Given the description of an element on the screen output the (x, y) to click on. 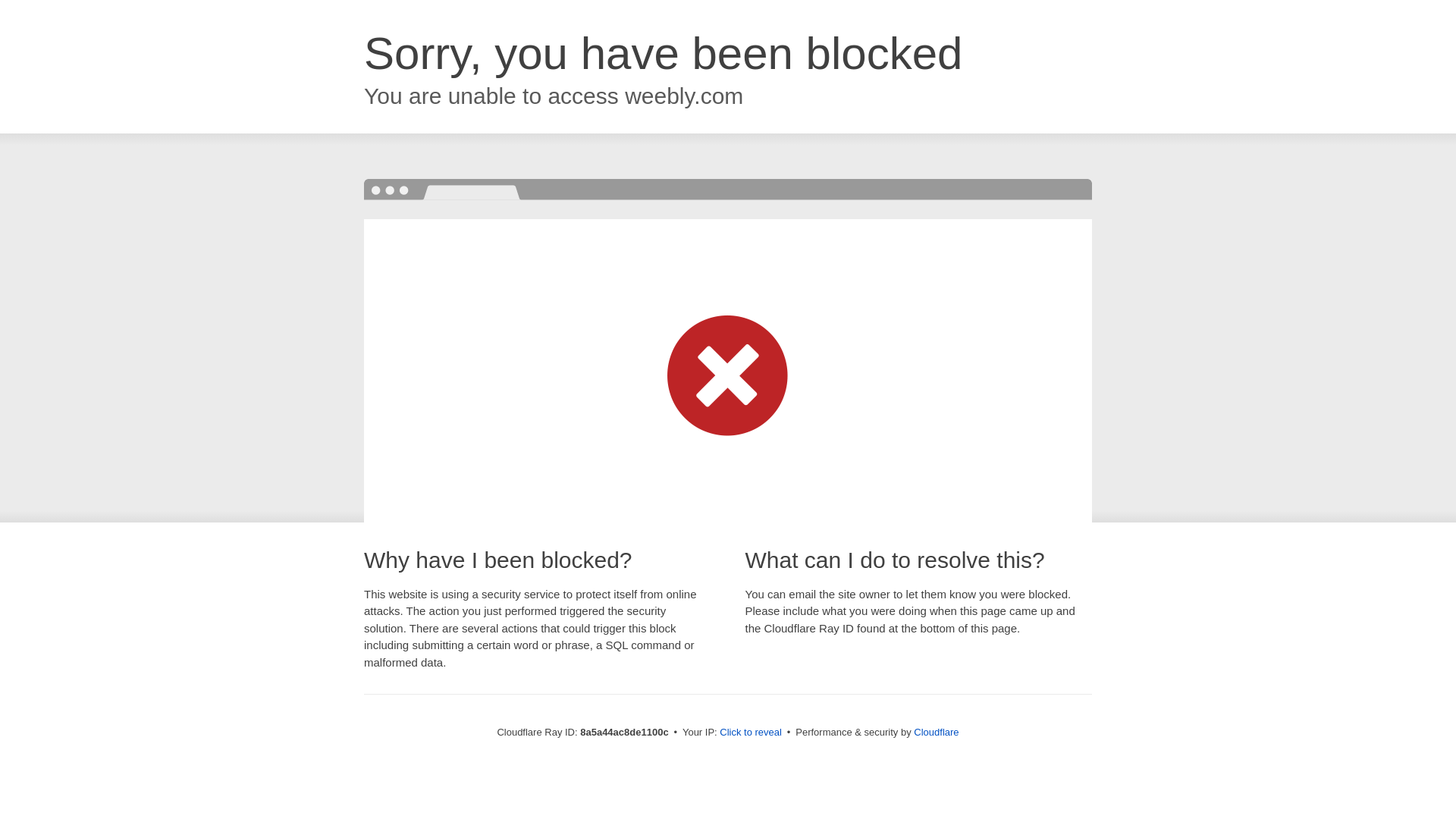
Cloudflare (936, 731)
Click to reveal (750, 732)
